Given the description of an element on the screen output the (x, y) to click on. 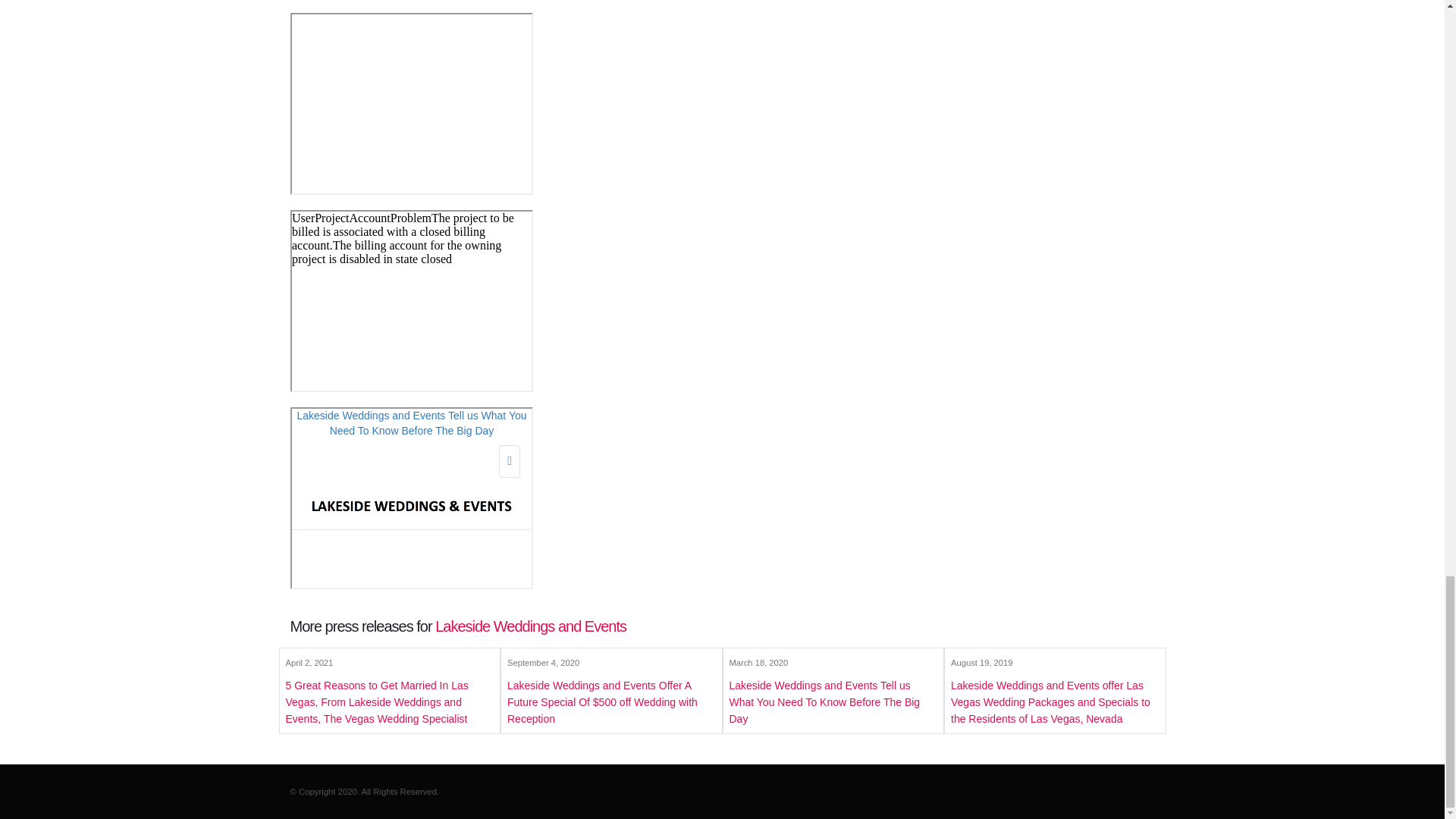
Lakeside Weddings and Events (530, 626)
